Given the description of an element on the screen output the (x, y) to click on. 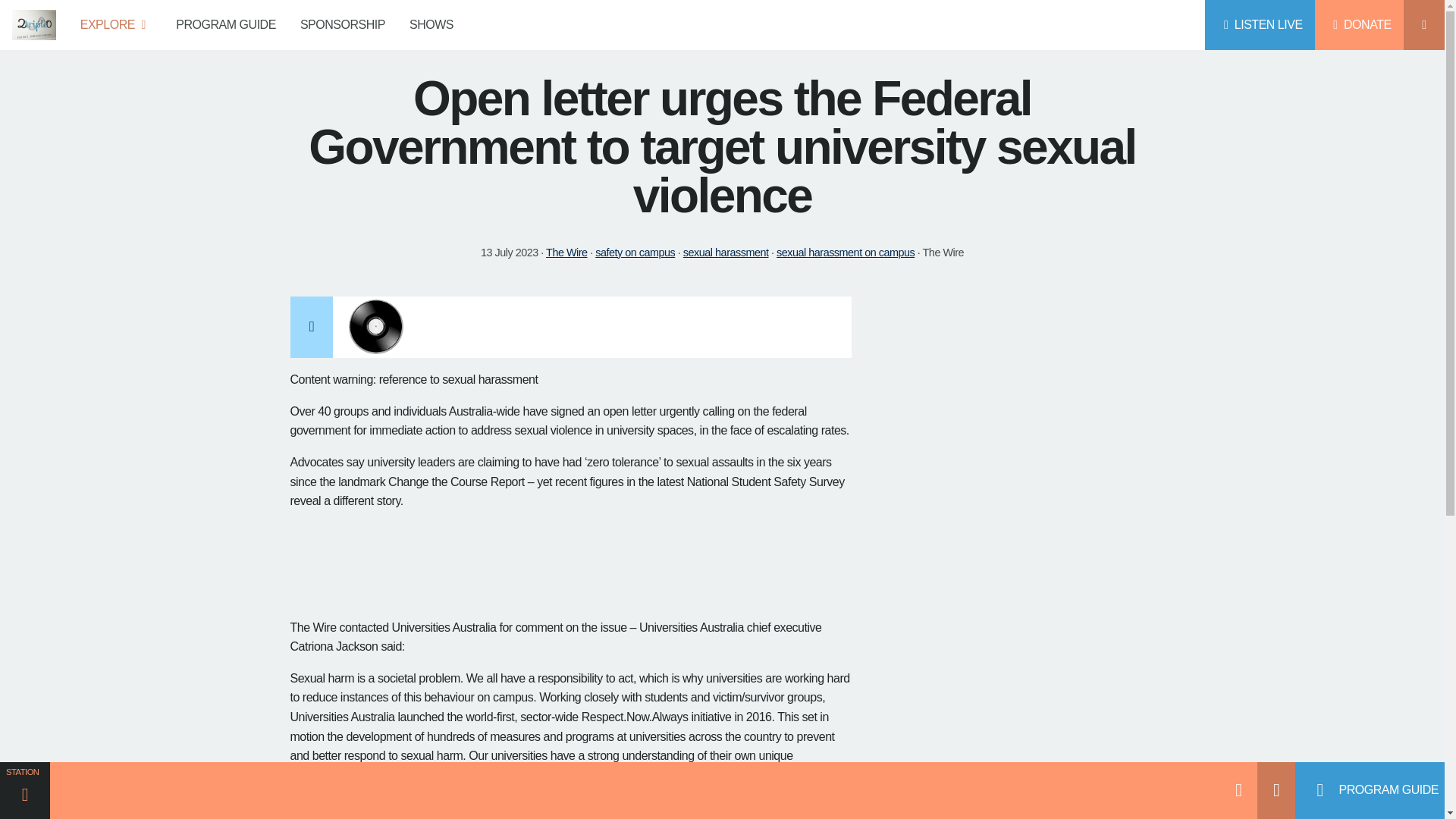
EXPLORE (116, 24)
safety on campus (635, 252)
sexual harassment (725, 252)
PROGRAM GUIDE (225, 24)
DONATE (1358, 24)
SPONSORSHIP (342, 24)
The Wire (567, 252)
sexual harassment on campus (845, 252)
LISTEN LIVE (1259, 24)
SHOWS (431, 24)
